Given the description of an element on the screen output the (x, y) to click on. 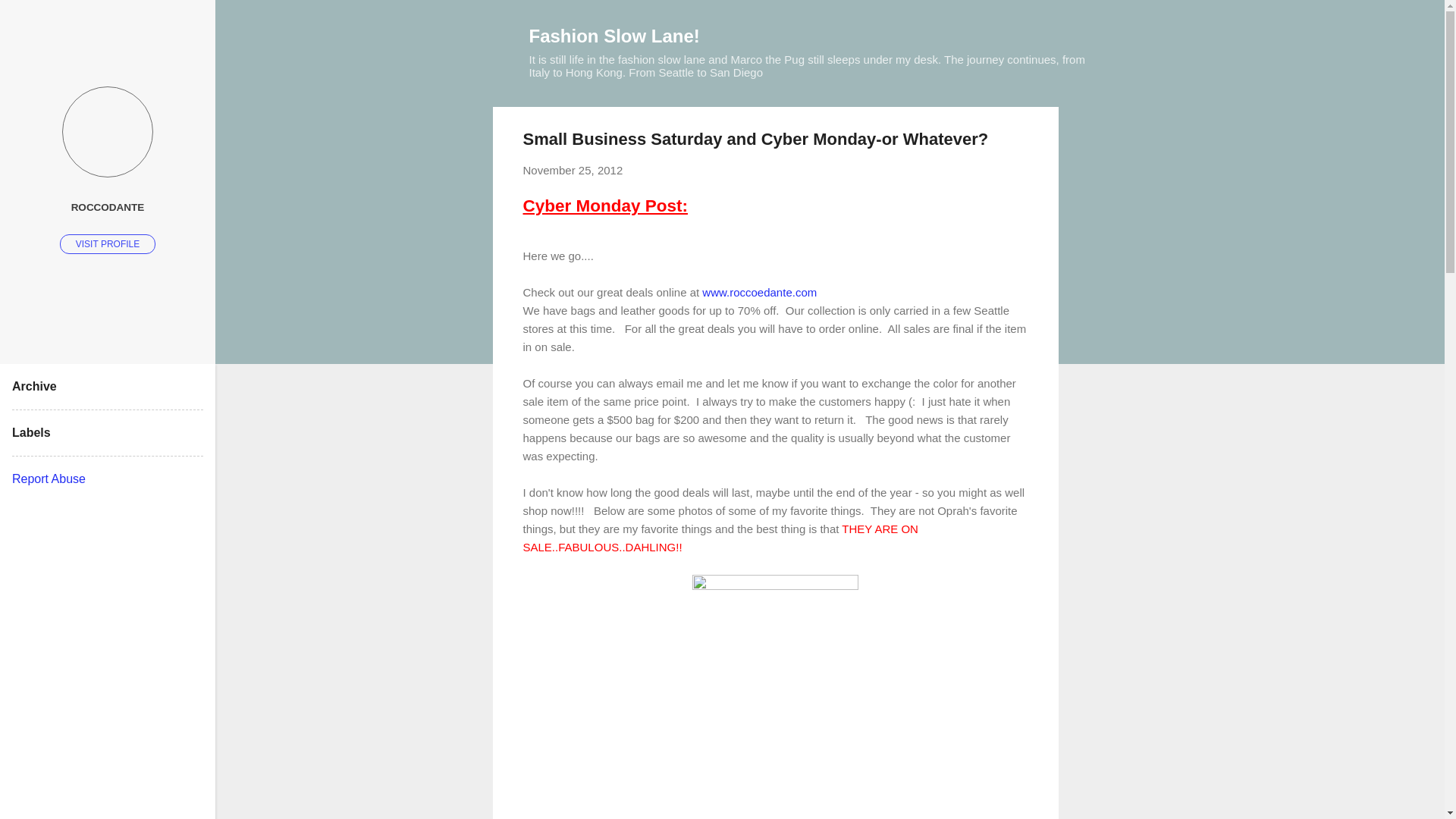
November 25, 2012 (572, 169)
permanent link (572, 169)
Search (29, 18)
Fashion Slow Lane! (614, 35)
www.roccoedante.com (758, 291)
